Given the description of an element on the screen output the (x, y) to click on. 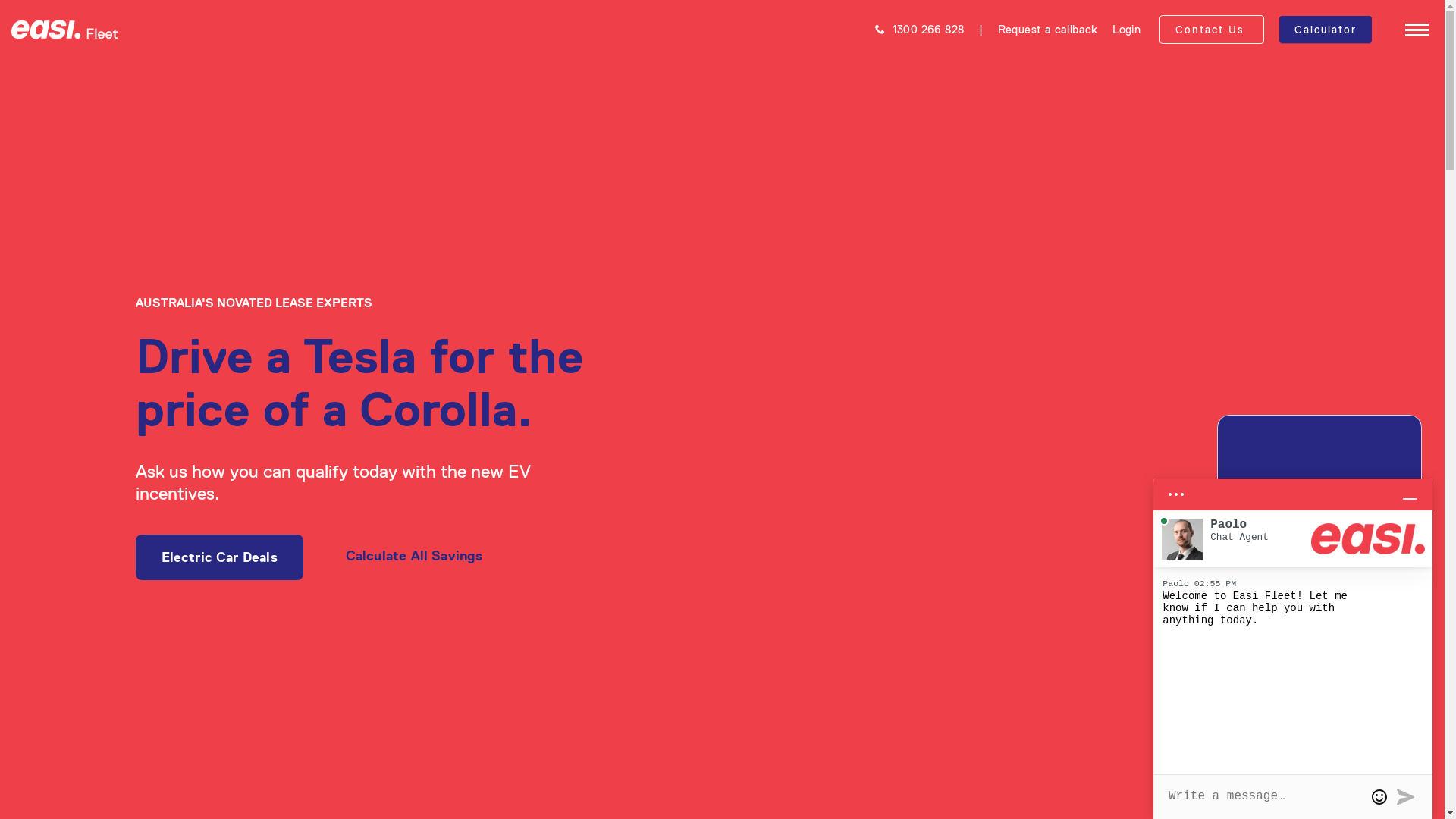
Calculator Element type: text (1325, 29)
SALARY PACKAGING Element type: text (1330, 256)
BUSINESS CAR LEASING Element type: text (1330, 208)
ABOUT US Element type: text (1330, 579)
NOVATED LEASE CALCULATOR Element type: text (1330, 159)
Easi | Novated Lease & Fleet Management Element type: text (64, 29)
Calculate Your Savings Element type: text (1319, 734)
BLOG Element type: text (1330, 497)
FLEET MANAGEMENT Element type: text (1330, 281)
Login Element type: text (1126, 29)
Request a callback Element type: text (1049, 28)
NOVATED LEASE Element type: text (1330, 184)
ALL INCLUSIVE CAR FINANCE Element type: text (1330, 135)
FORMS Element type: text (1330, 432)
Contact Us Element type: text (1211, 29)
Electric Car Deals Element type: text (218, 557)
HOME Element type: text (1330, 77)
LEARN Element type: text (1330, 408)
CONTACT US Element type: text (1330, 632)
ELECTRIC VEHICLE NOVATED LEASING Element type: text (1330, 111)
Calculate All Savings Element type: text (414, 557)
1300 266 828 Element type: text (919, 29)
VIDEOS Element type: text (1330, 531)
RESOURCES Element type: text (1330, 374)
Toggle navigation Element type: text (1416, 26)
CAR DEALS Element type: text (1330, 329)
EASIBUY Element type: text (1330, 232)
